Given the description of an element on the screen output the (x, y) to click on. 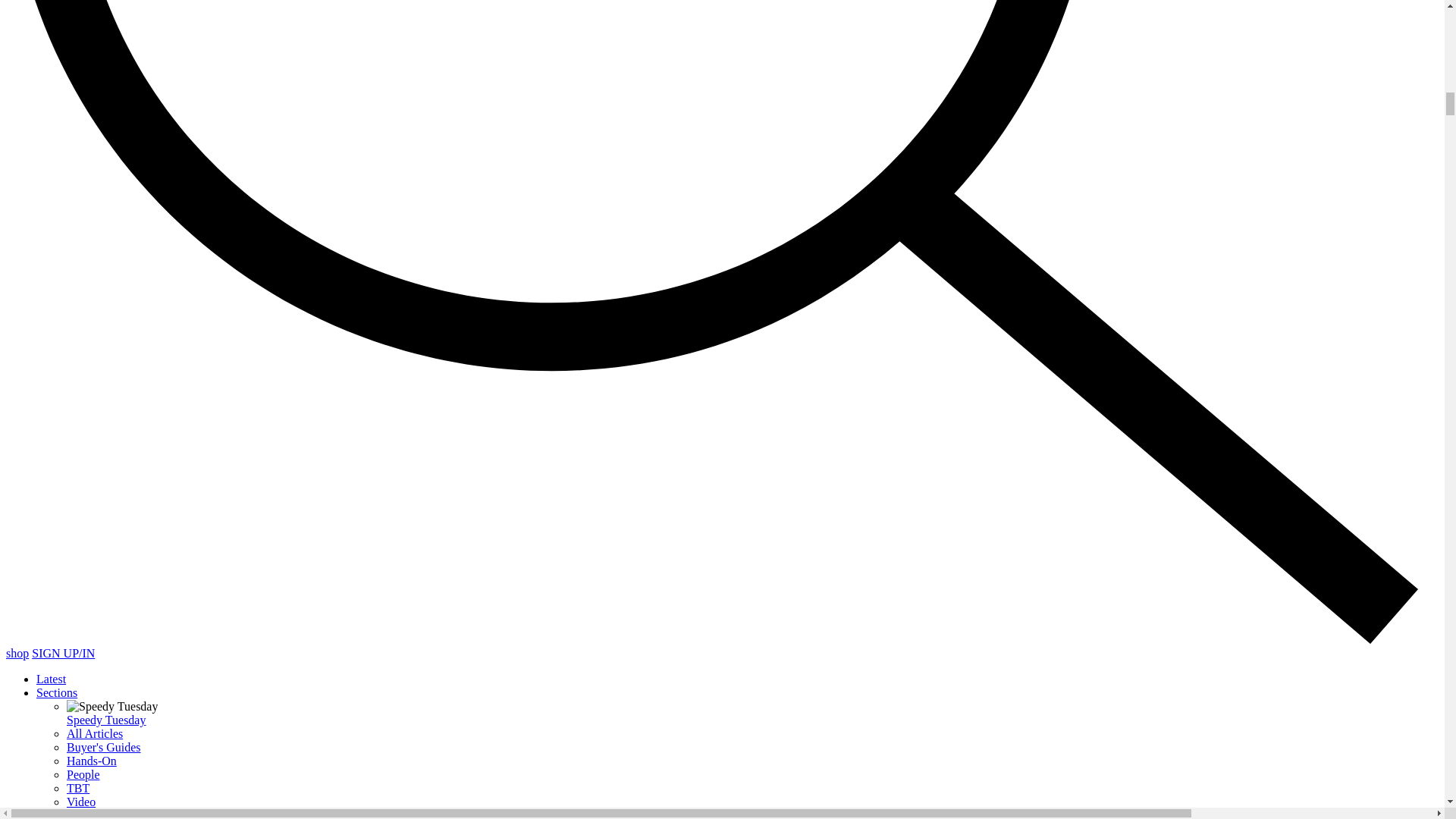
Sections (56, 692)
Watch Review (101, 814)
Latest (50, 678)
shop (17, 653)
All Articles (94, 733)
Video (81, 801)
Hands-On (91, 760)
TBT (77, 788)
Buyer's Guides (103, 747)
People (83, 774)
